Given the description of an element on the screen output the (x, y) to click on. 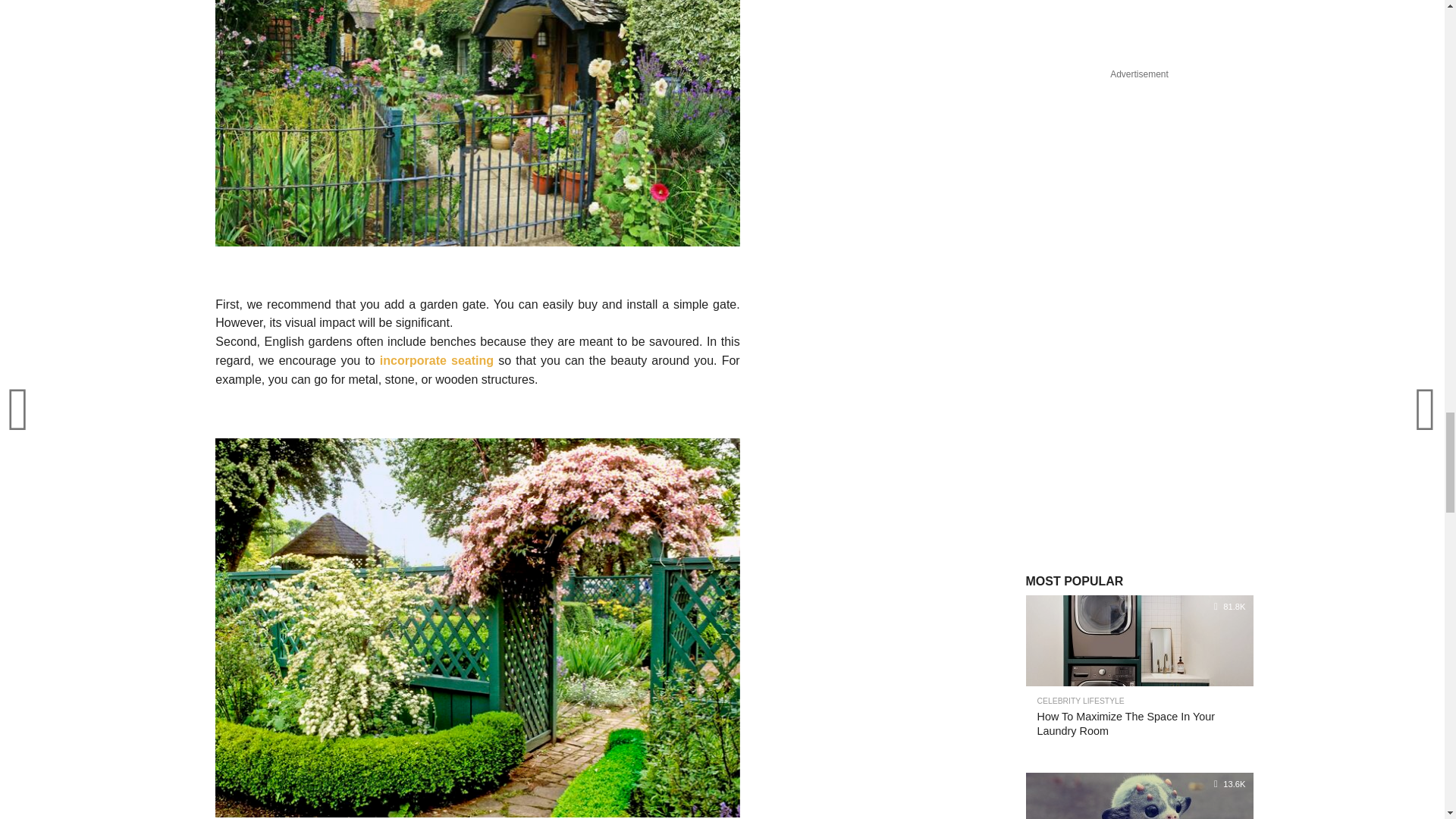
English cottage garden (477, 123)
incorporate seating (436, 359)
